Given the description of an element on the screen output the (x, y) to click on. 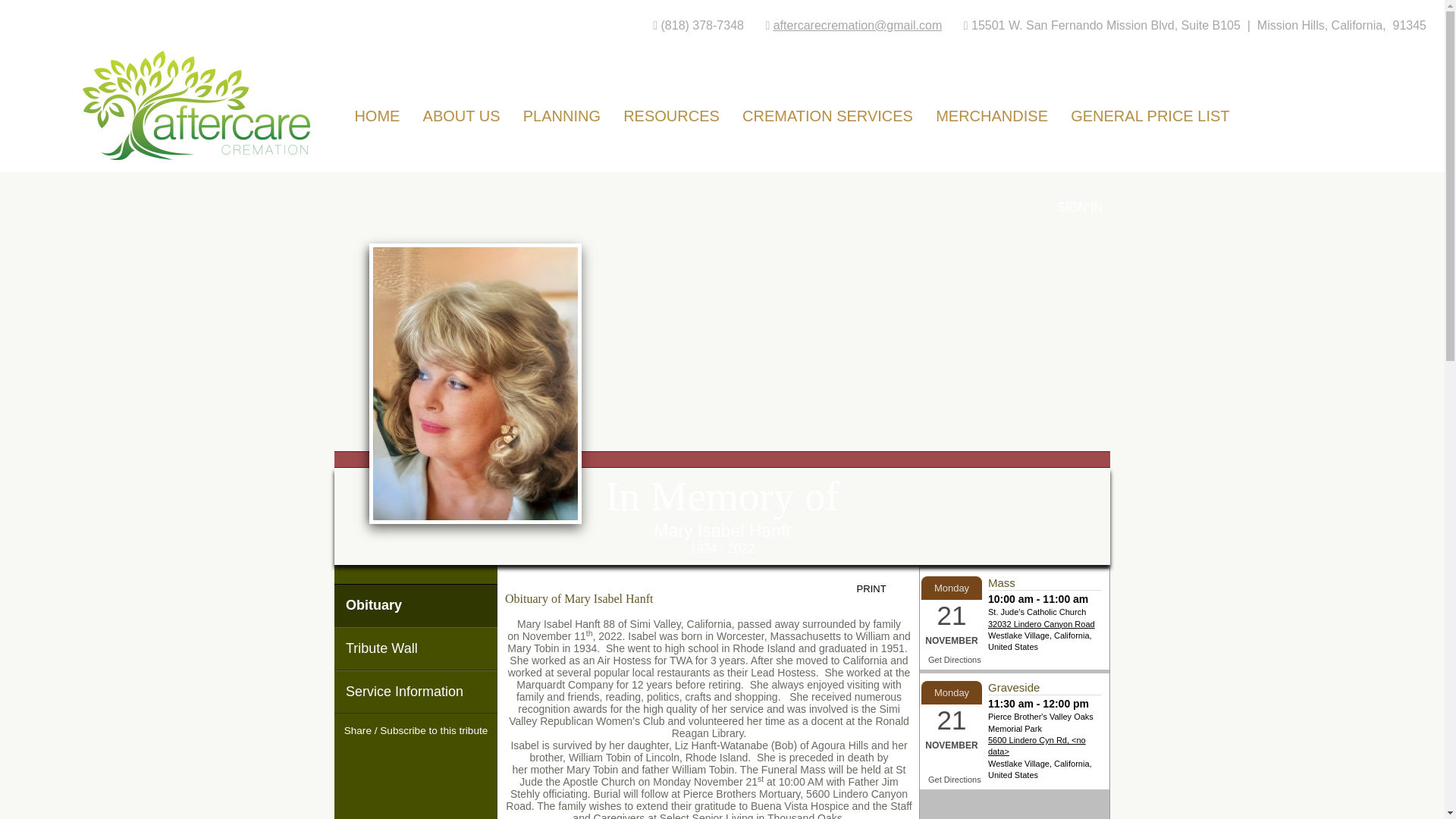
HOME (376, 110)
Facebook (387, 759)
SIGN IN (1079, 206)
Get Directions (954, 659)
Service Information (415, 691)
PLANNING (561, 110)
Obituary (415, 605)
CREMATION SERVICES (827, 110)
Receive Notifications (442, 759)
Tribute Wall (415, 648)
